Given the description of an element on the screen output the (x, y) to click on. 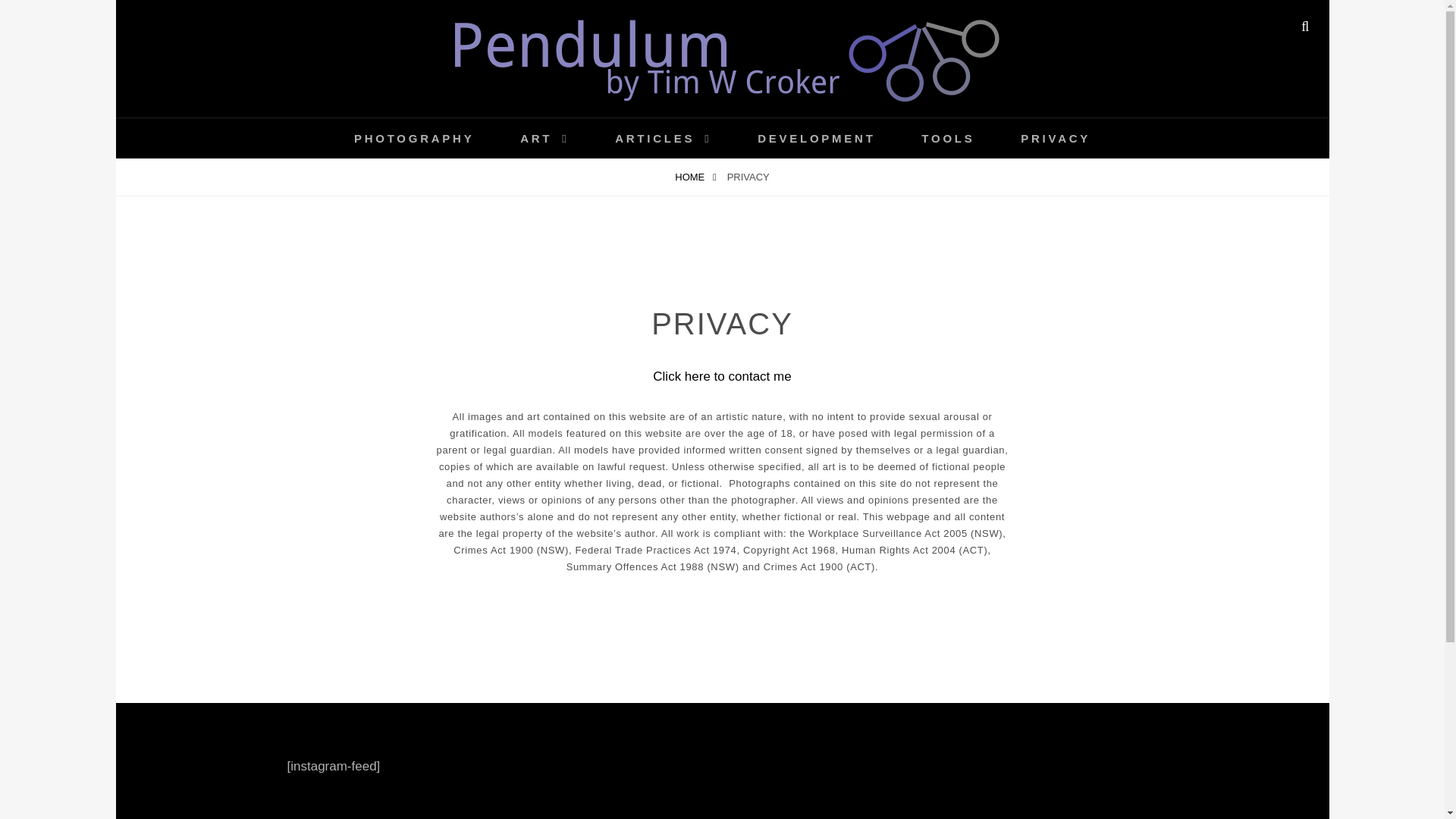
PHOTOGRAPHY (414, 137)
HOME (694, 176)
Click here to contact me (721, 376)
PENDULUM BY TIM W CROKER (526, 124)
PRIVACY (1055, 137)
ART (544, 137)
DEVELOPMENT (816, 137)
ARTICLES (663, 137)
TOOLS (947, 137)
